Given the description of an element on the screen output the (x, y) to click on. 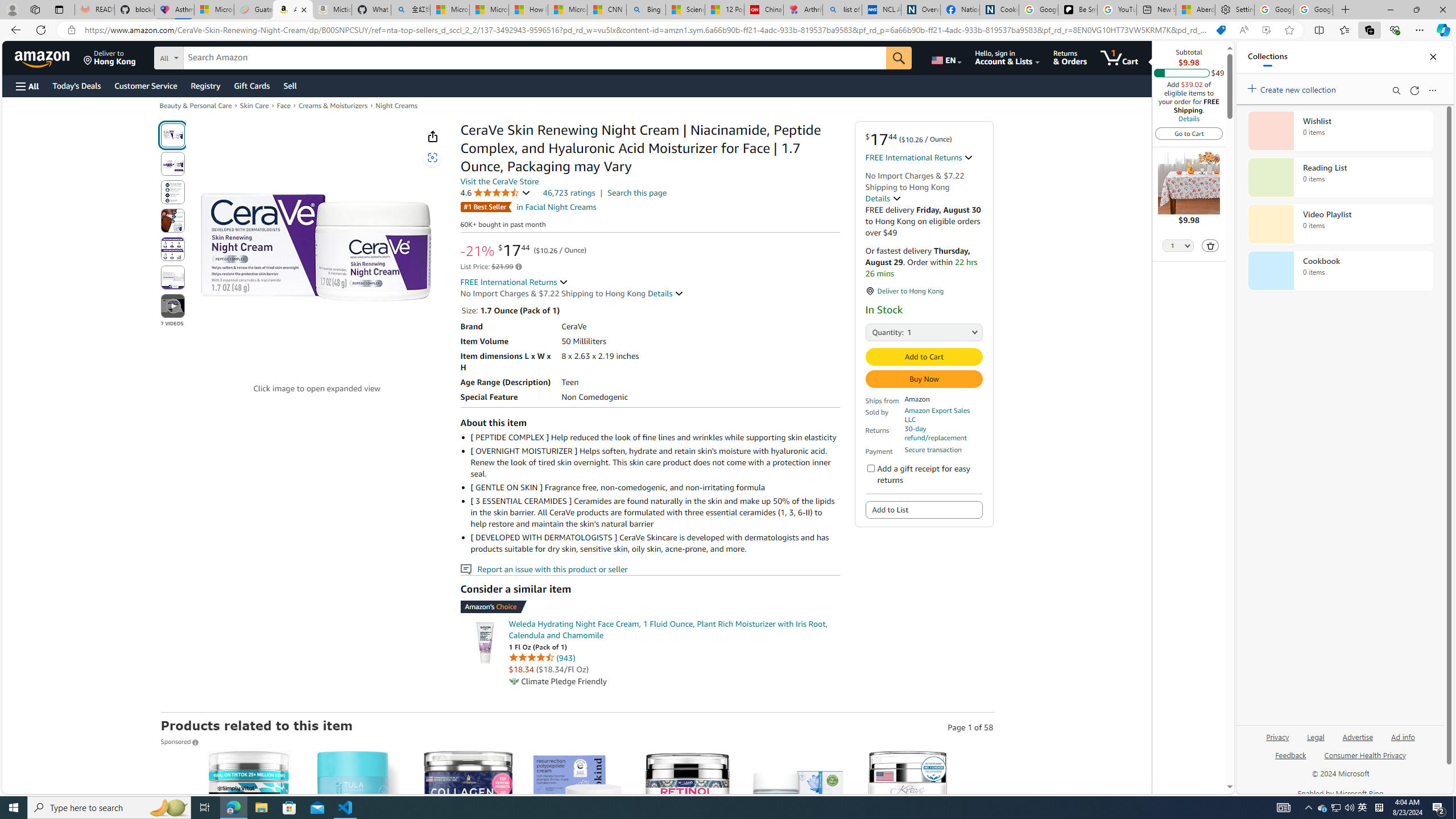
Bing (646, 9)
Gift Cards (251, 85)
Creams & Moisturizers (333, 105)
Be Smart | creating Science videos | Patreon (1077, 9)
Night Creams (396, 105)
